Given the description of an element on the screen output the (x, y) to click on. 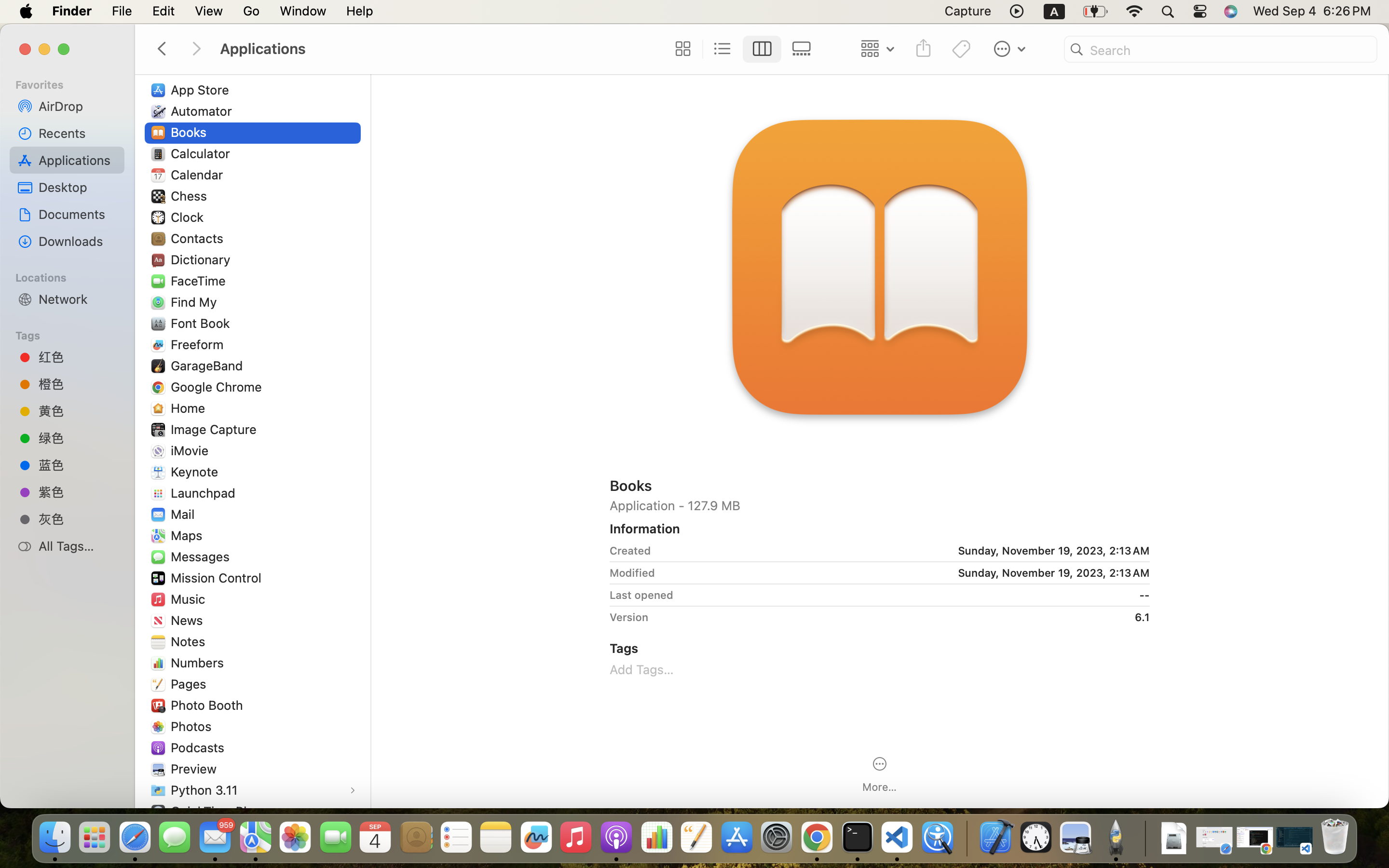
Photos Element type: AXTextField (192, 725)
Information Element type: AXStaticText (644, 528)
灰色 Element type: AXStaticText (77, 518)
Dictionary Element type: AXTextField (202, 259)
1 Element type: AXRadioButton (762, 48)
